Given the description of an element on the screen output the (x, y) to click on. 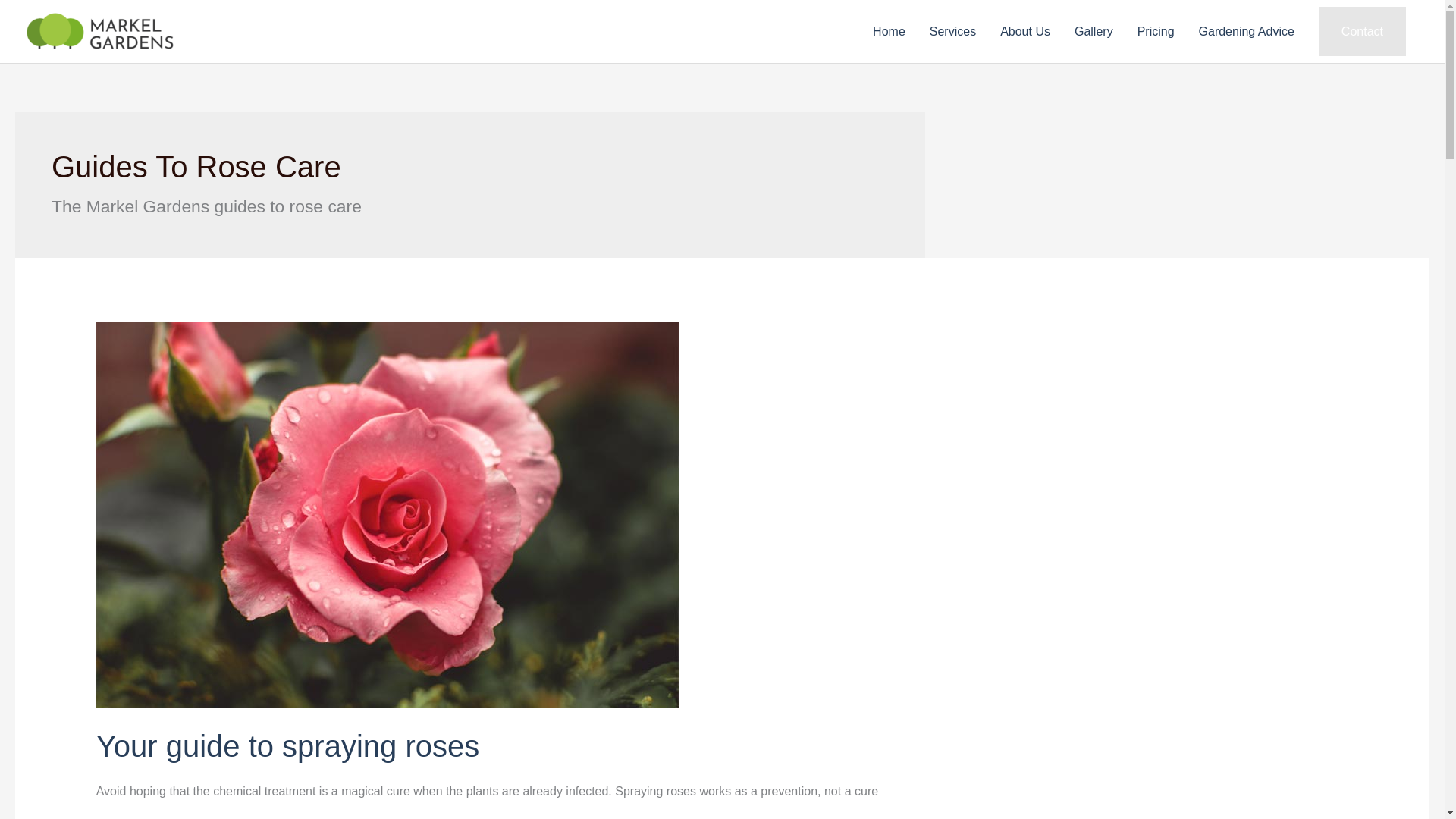
Your guide to spraying roses (288, 745)
Gallery (1093, 31)
Gardening Advice (1246, 31)
Services (952, 31)
About Us (1025, 31)
Contact (1362, 31)
Home (888, 31)
Pricing (1155, 31)
